Given the description of an element on the screen output the (x, y) to click on. 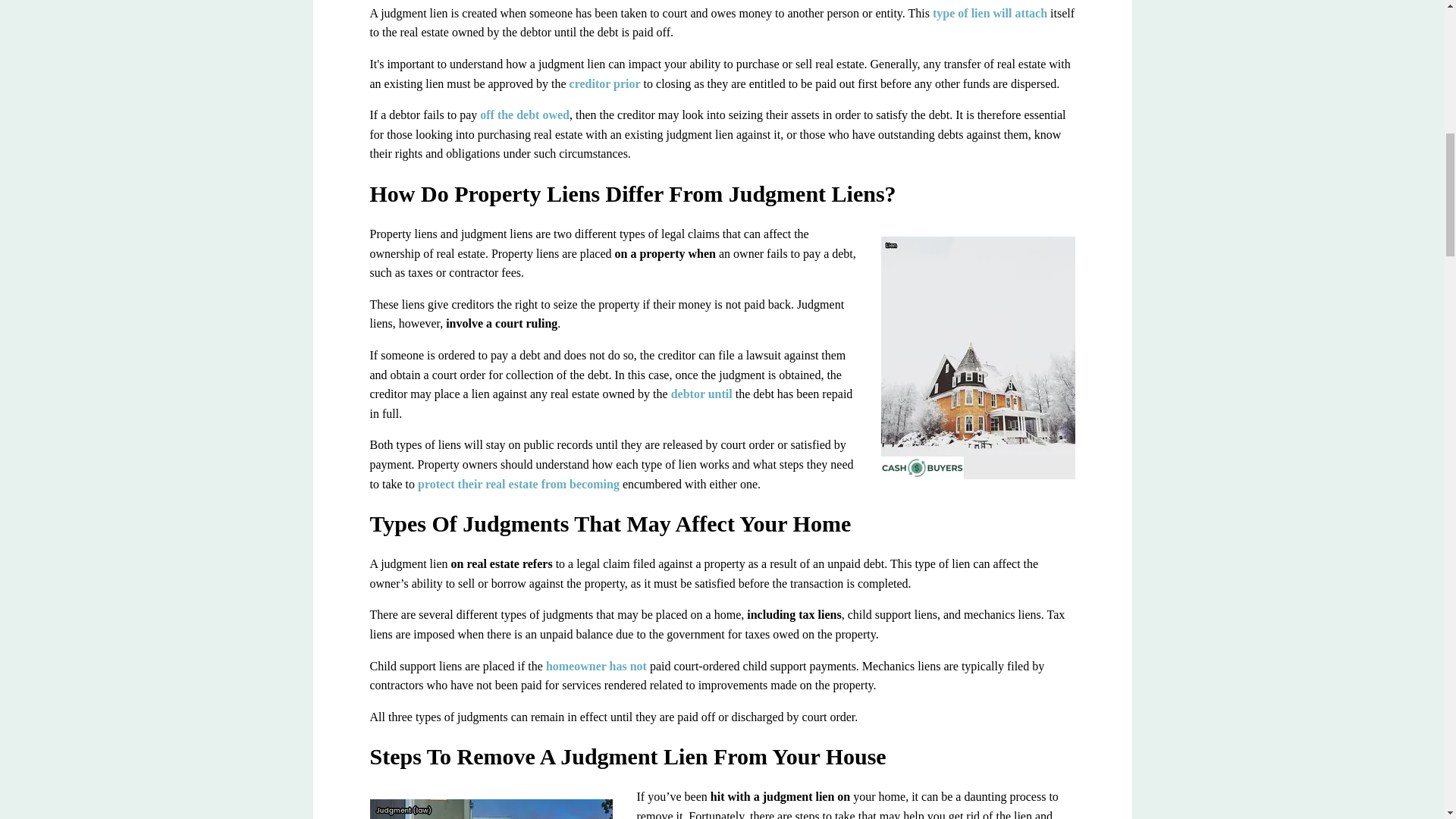
protect their real estate from becoming (518, 483)
homeowner has not (596, 666)
debtor until (701, 393)
creditor prior (604, 83)
type of lien will attach (989, 12)
off the debt owed (524, 114)
